Given the description of an element on the screen output the (x, y) to click on. 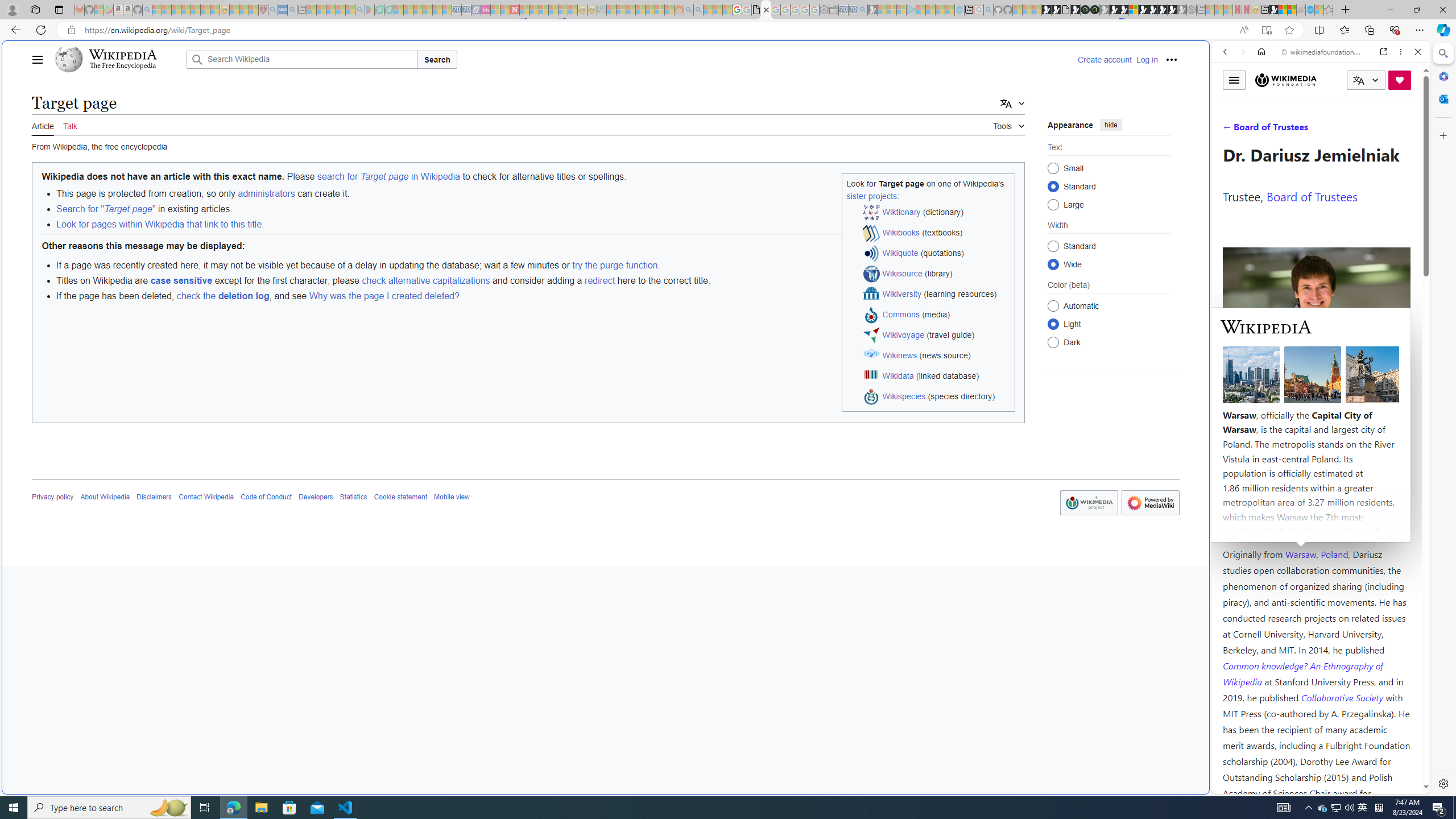
Main menu (37, 59)
Wikispecies (species directory) (936, 396)
Wikimedia Foundation (1285, 79)
Wikiquote (quotations) (936, 253)
utah sues federal government - Search (922, 389)
Privacy policy (53, 497)
AutomationID: footer-poweredbyico (1150, 502)
World - MSN (727, 389)
Play Cave FRVR in your browser | Games from Microsoft Start (922, 242)
The Weather Channel - MSN - Sleeping (175, 9)
